Given the description of an element on the screen output the (x, y) to click on. 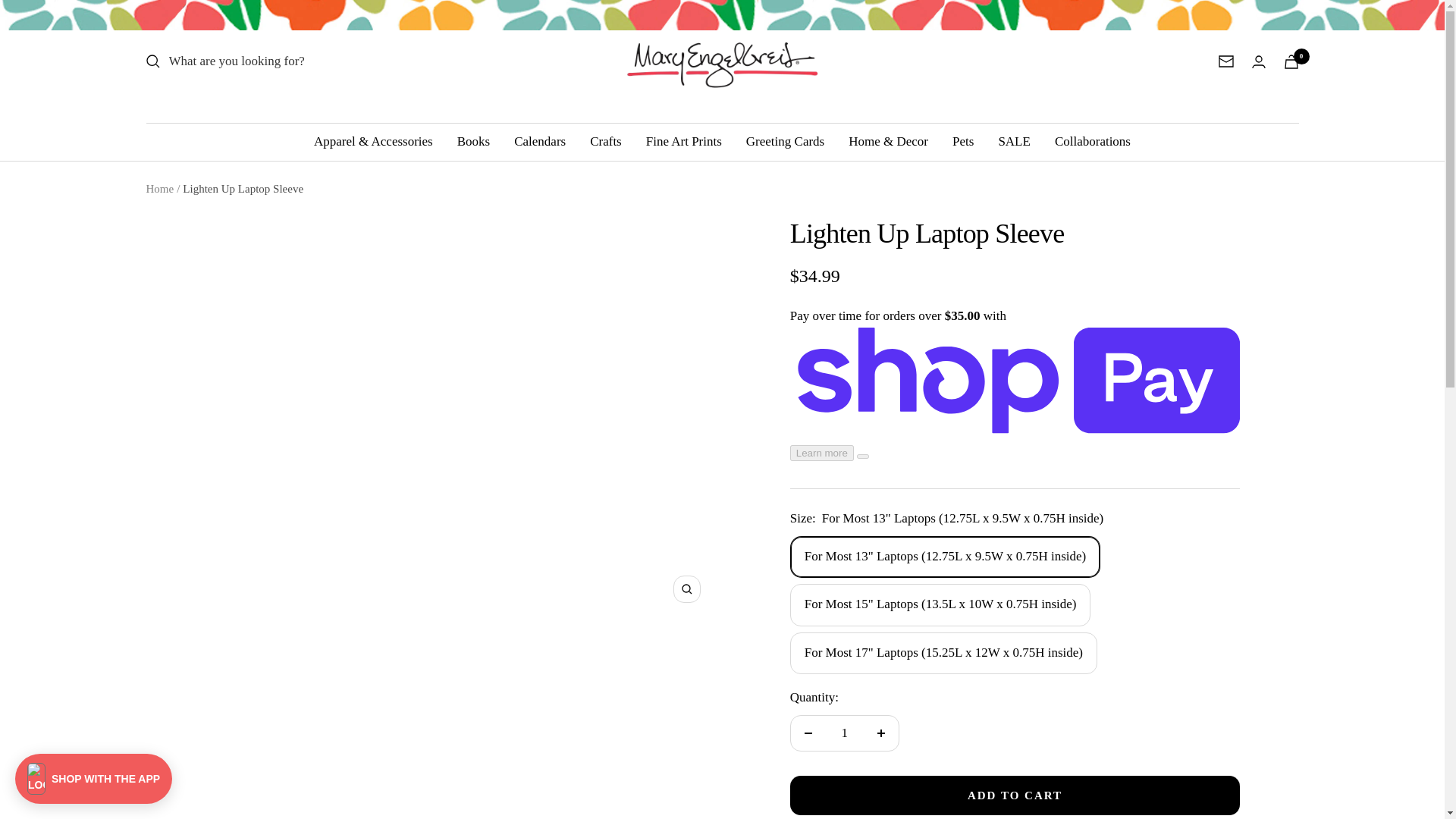
Greeting Cards (784, 141)
Fine Art Prints (684, 141)
Crafts (605, 141)
0 (1290, 61)
Pets (963, 141)
Collaborations (1092, 141)
1 (844, 733)
Books (473, 141)
SALE (1013, 141)
Calendars (539, 141)
